Given the description of an element on the screen output the (x, y) to click on. 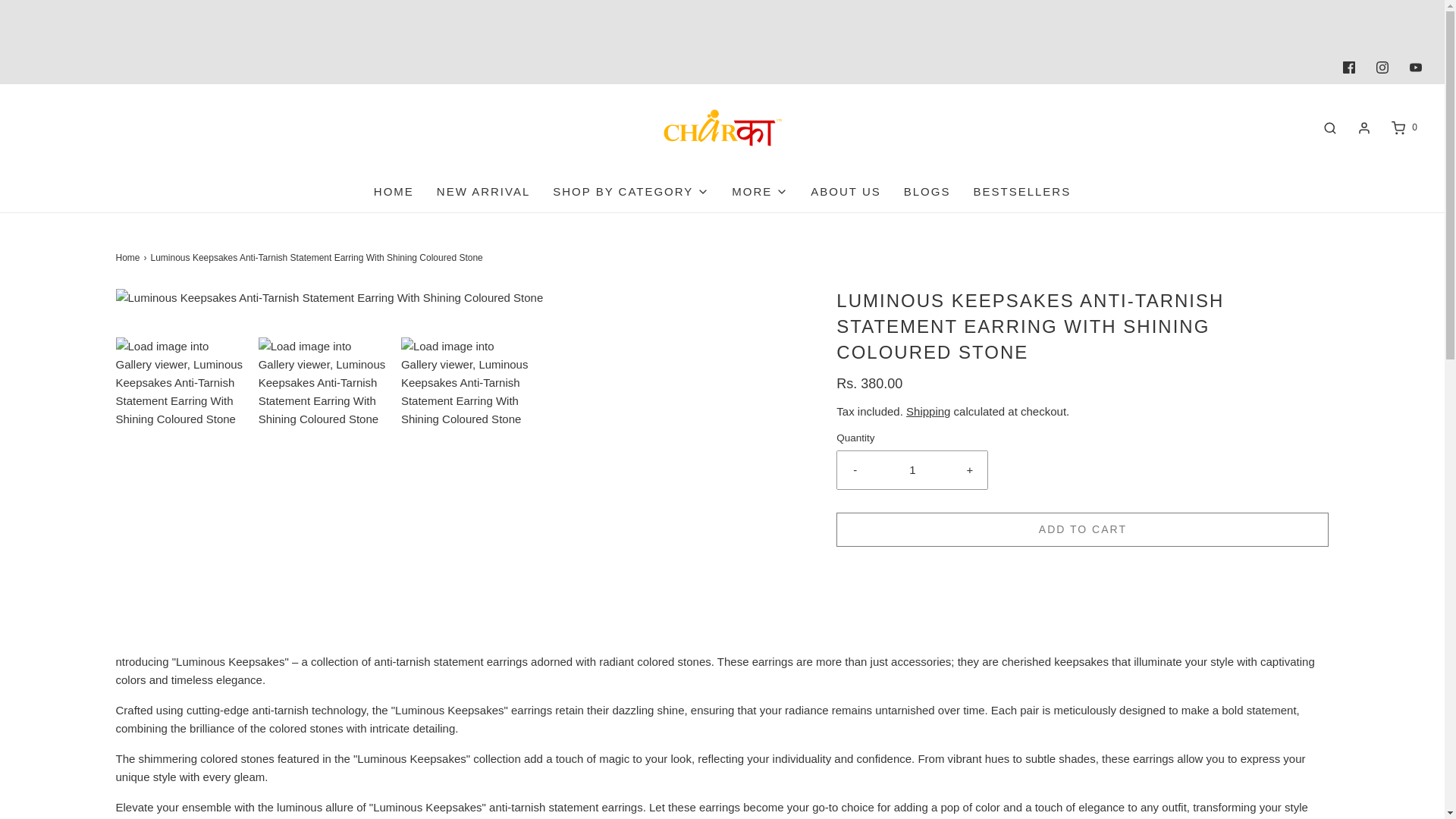
Back to the frontpage (128, 257)
Cart (1403, 127)
1 (911, 469)
Search (1329, 127)
Log in (1364, 128)
